Given the description of an element on the screen output the (x, y) to click on. 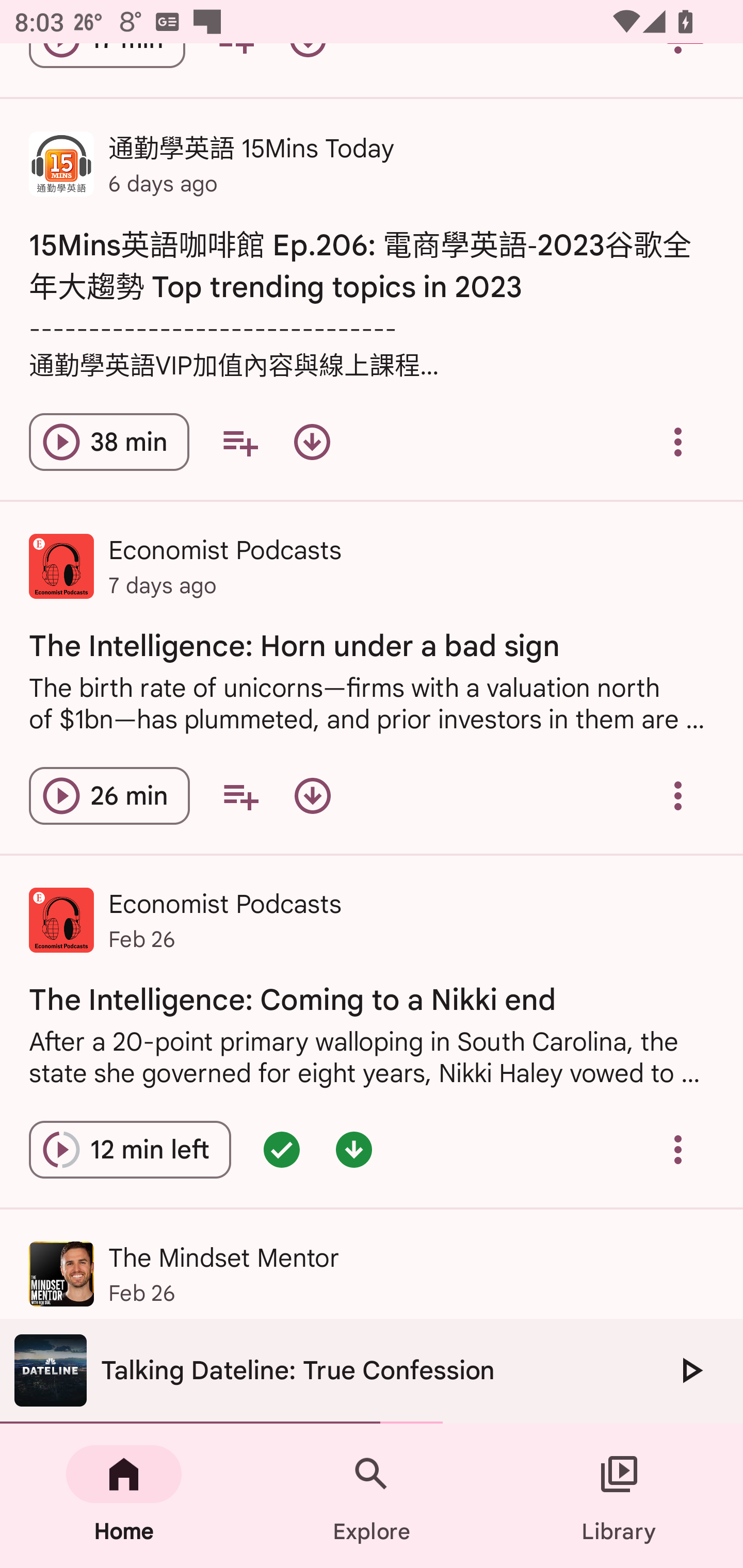
Add to your queue (239, 442)
Download episode (312, 442)
Overflow menu (677, 442)
Add to your queue (240, 795)
Download episode (312, 795)
Overflow menu (677, 795)
Episode queued - double tap for options (281, 1150)
Episode downloaded - double tap for options (354, 1150)
Overflow menu (677, 1150)
Play (690, 1370)
Explore (371, 1495)
Library (619, 1495)
